Given the description of an element on the screen output the (x, y) to click on. 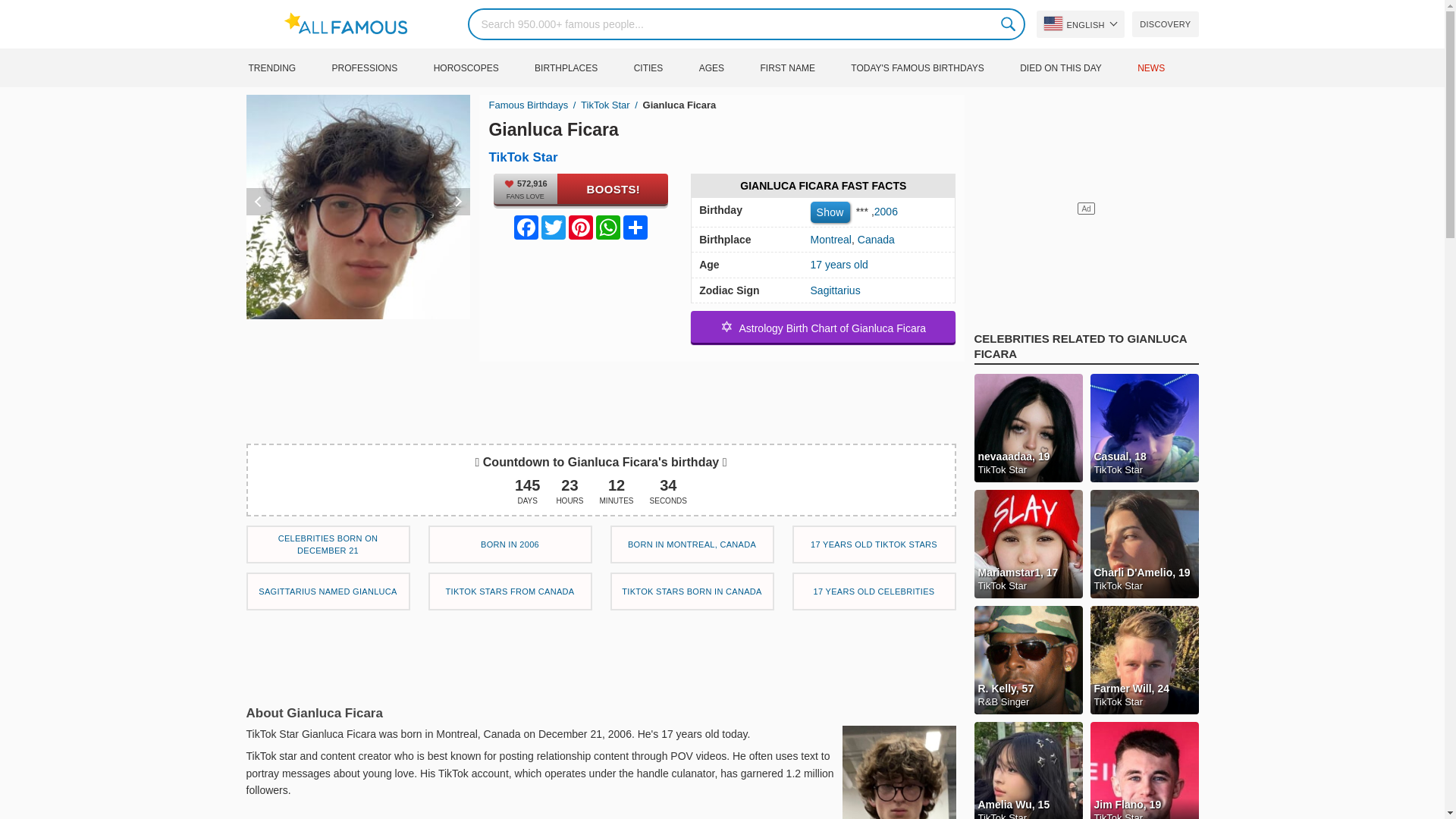
TRENDING (287, 67)
ENGLISH (1080, 23)
TODAY'S FAMOUS BIRTHDAYS (932, 67)
FIRST NAME (802, 67)
Top 200 Famous people turn 17 (873, 591)
BIRTHPLACES (581, 67)
AllFamous.org (353, 23)
AGES (727, 67)
Advertisement (600, 395)
SEARCH (1008, 24)
Top 200 Celebrities born in Montreal, Canada (691, 544)
DISCOVERY (1165, 23)
Top 200 Famous TikTok Stars 17 years old (873, 544)
I love Gianluca Ficara! (580, 188)
Top 200 Celebrities born in 2006 (509, 544)
